Given the description of an element on the screen output the (x, y) to click on. 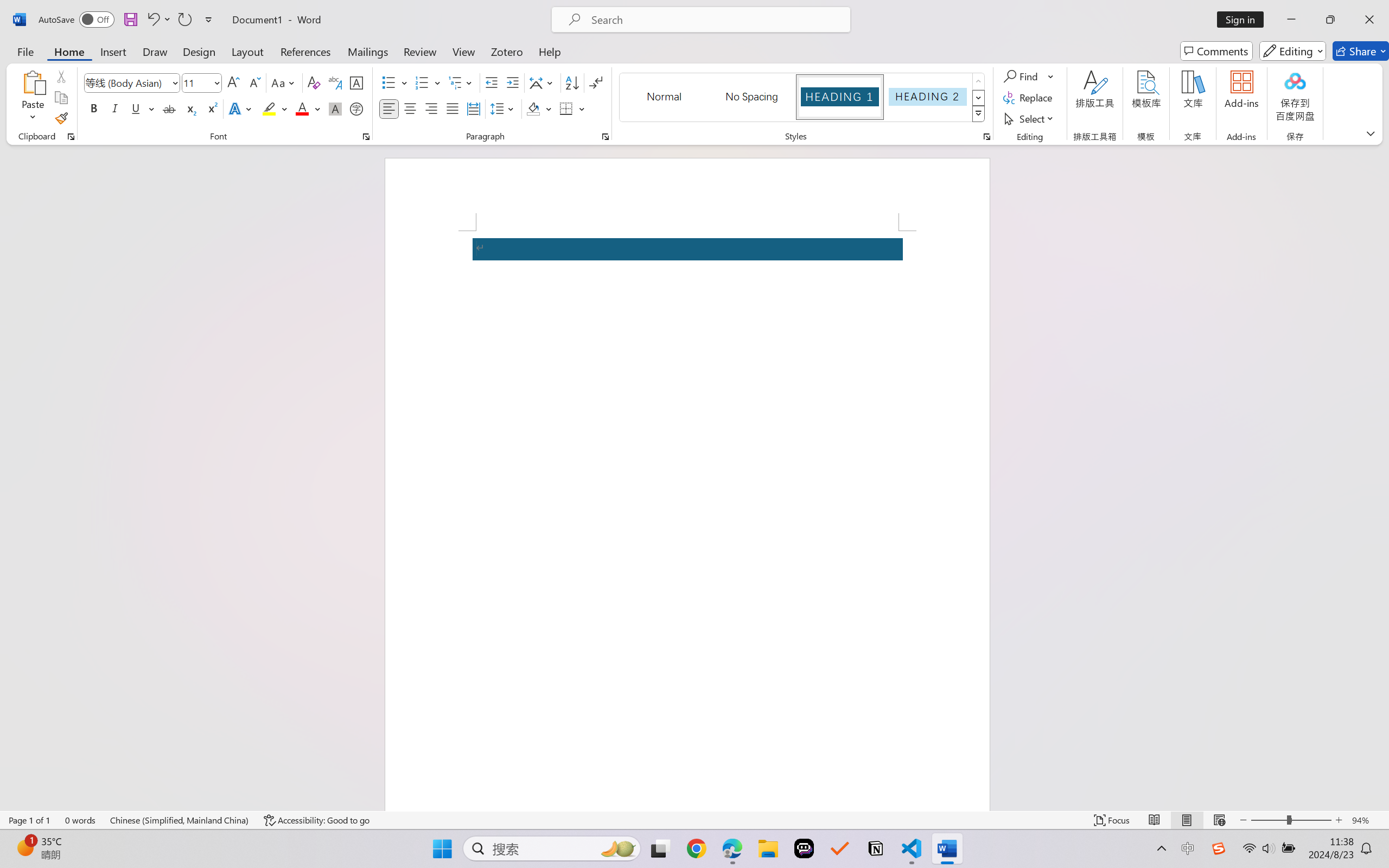
Shading No Color (533, 108)
